Given the description of an element on the screen output the (x, y) to click on. 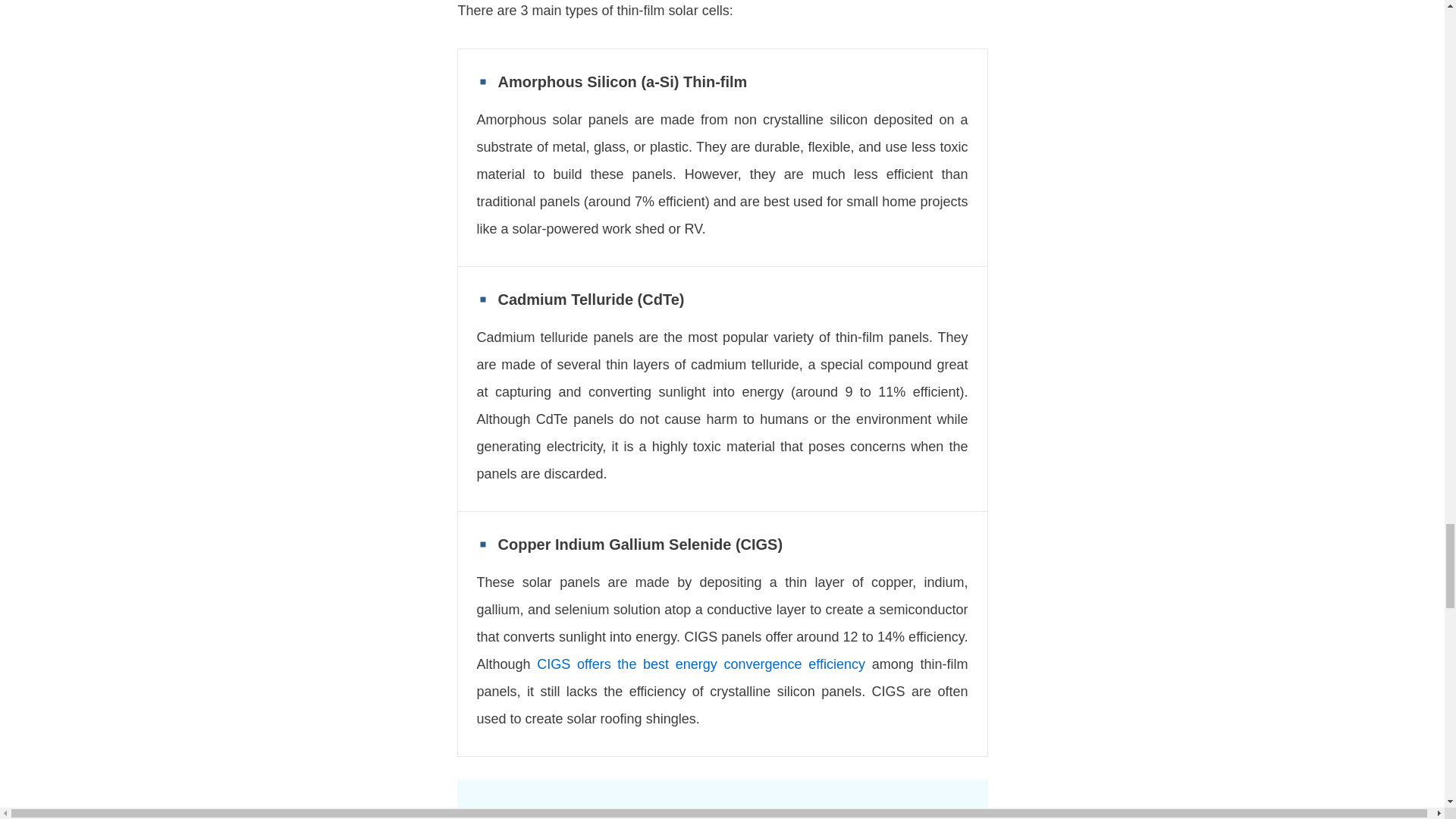
Solar roofing shingles (721, 808)
CIGS offers the best energy convergence efficiency (700, 663)
